Given the description of an element on the screen output the (x, y) to click on. 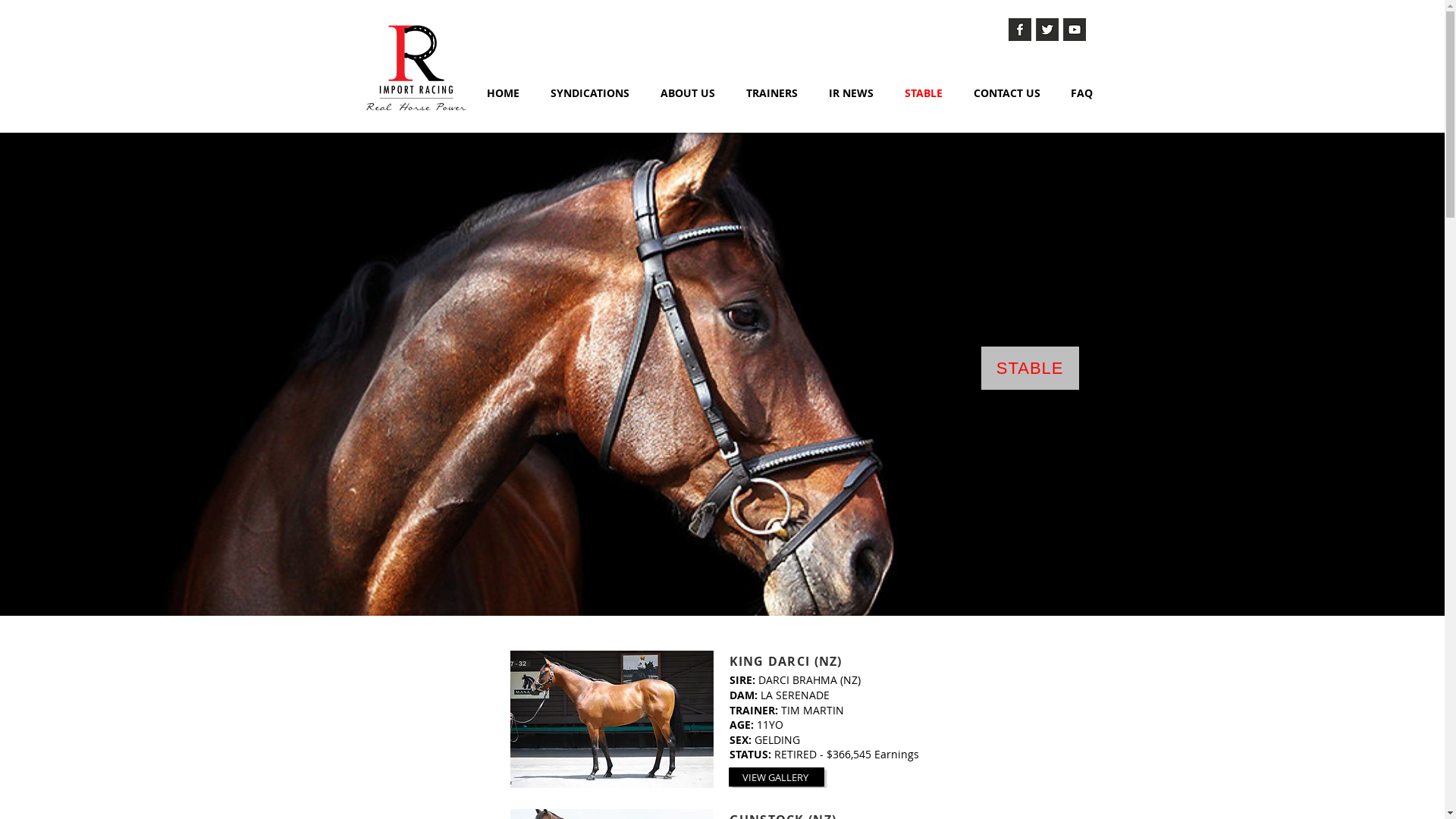
SYNDICATIONS Element type: text (590, 92)
STABLE Element type: text (922, 92)
VIEW GALLERY Element type: text (776, 776)
HOME Element type: text (503, 92)
ABOUT US Element type: text (687, 92)
CONTACT US Element type: text (1006, 92)
IR NEWS Element type: text (850, 92)
FAQ Element type: text (1081, 92)
TRAINERS Element type: text (772, 92)
